Given the description of an element on the screen output the (x, y) to click on. 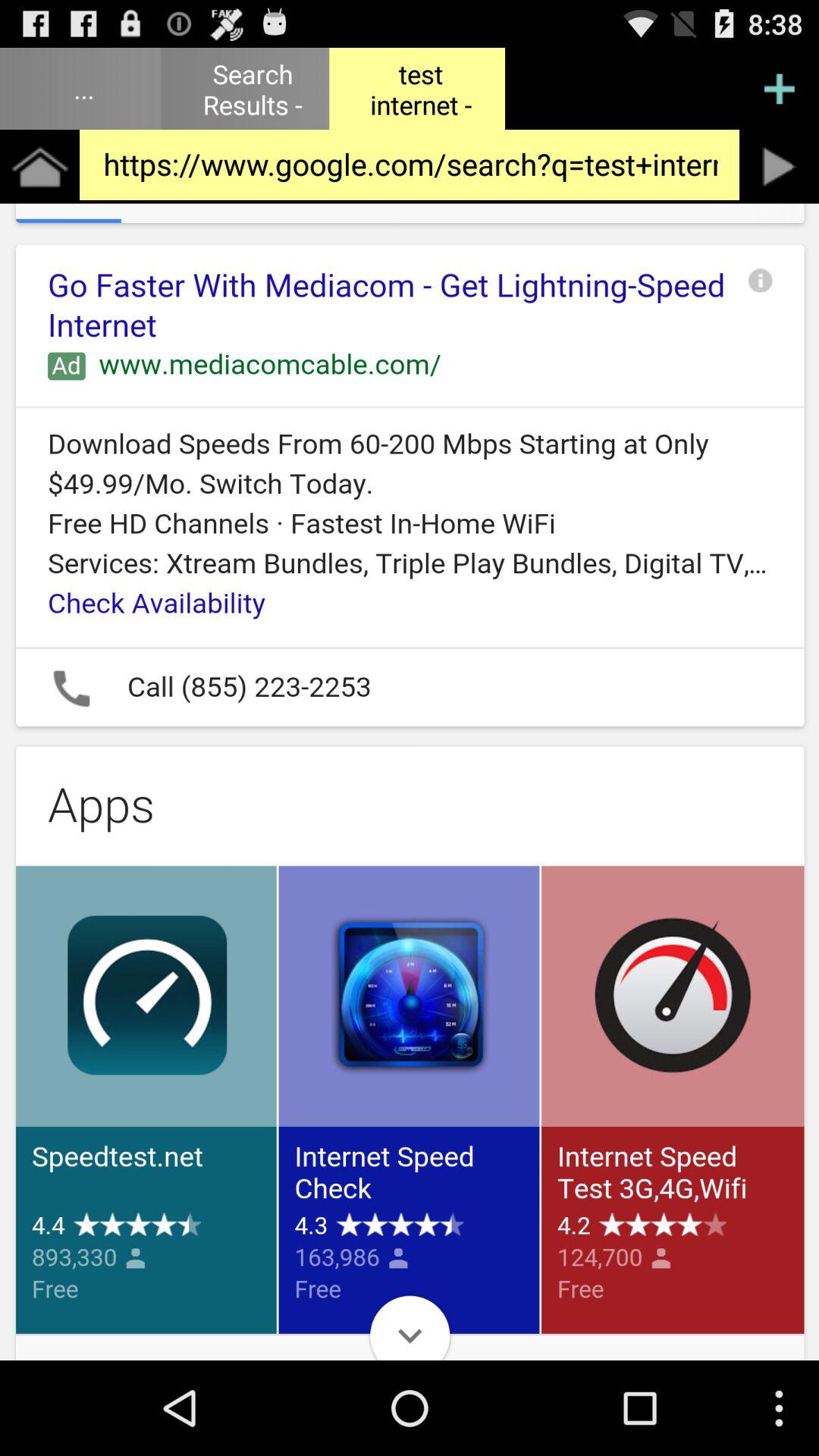
go to home page (39, 166)
